Given the description of an element on the screen output the (x, y) to click on. 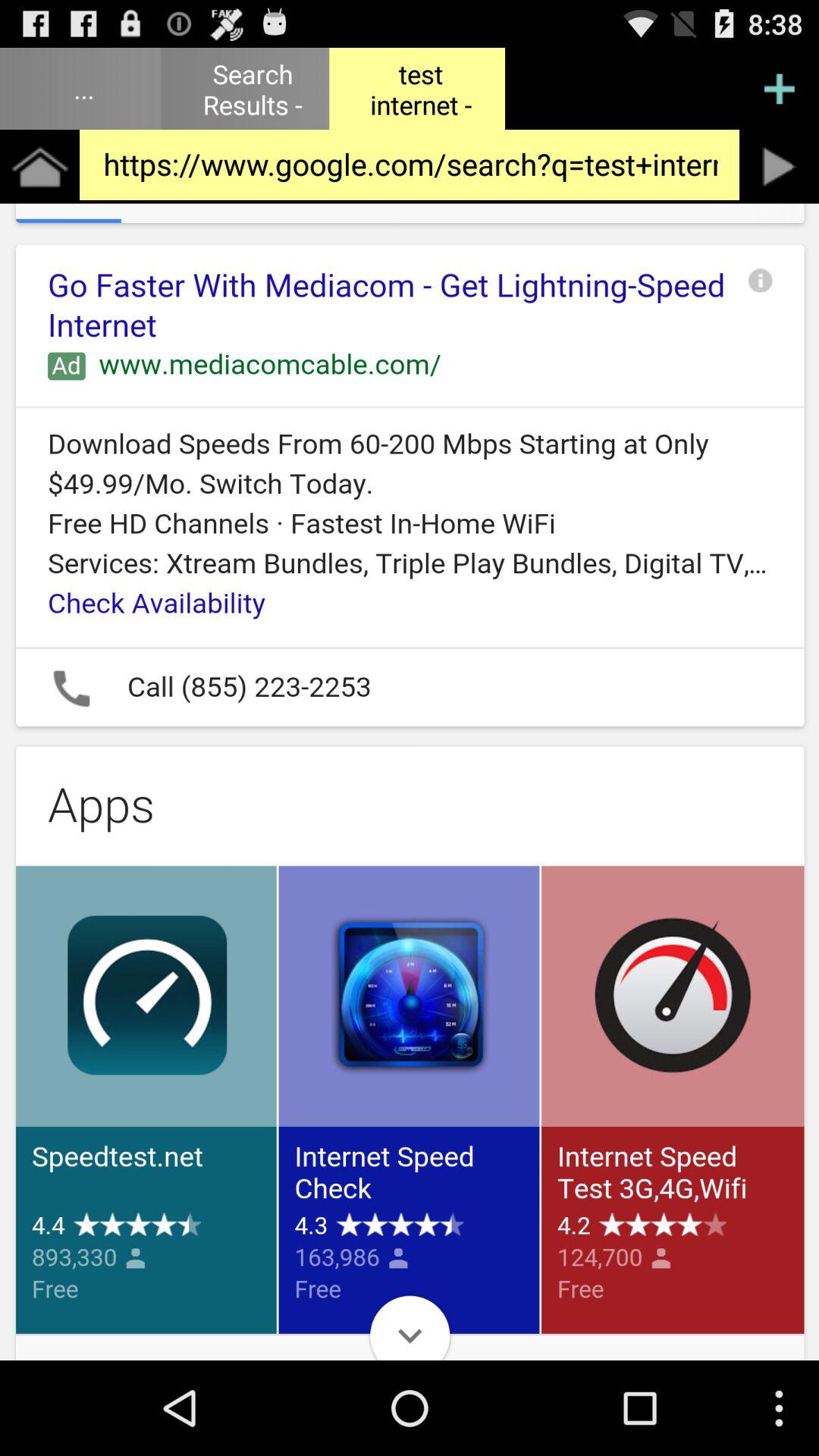
go to home page (39, 166)
